Given the description of an element on the screen output the (x, y) to click on. 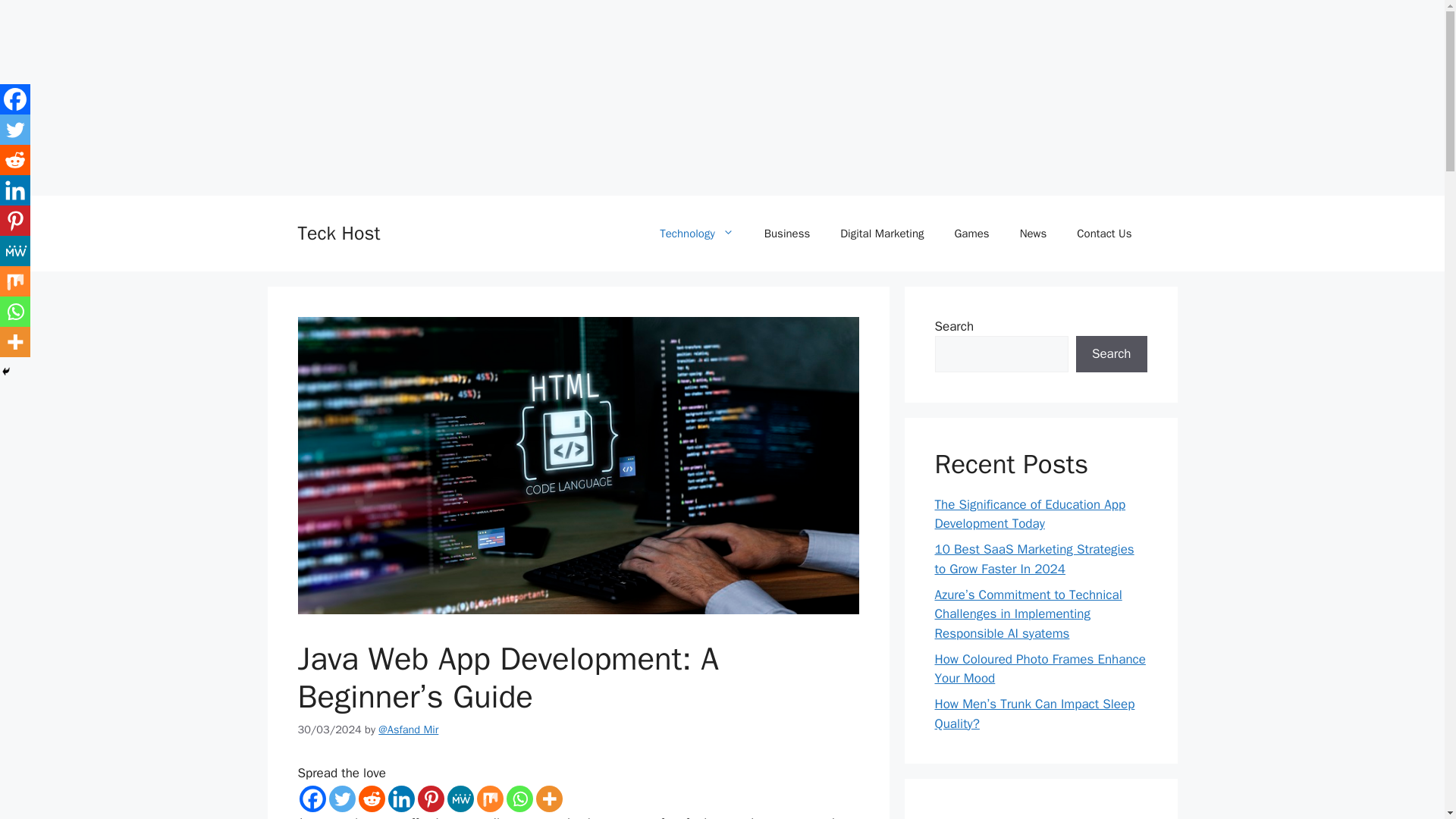
Technology (697, 233)
MeWe (460, 798)
Games (971, 233)
Contact Us (1104, 233)
Mix (489, 798)
Linkedin (401, 798)
Business (787, 233)
Twitter (342, 798)
Digital Marketing (882, 233)
Pinterest (430, 798)
